Given the description of an element on the screen output the (x, y) to click on. 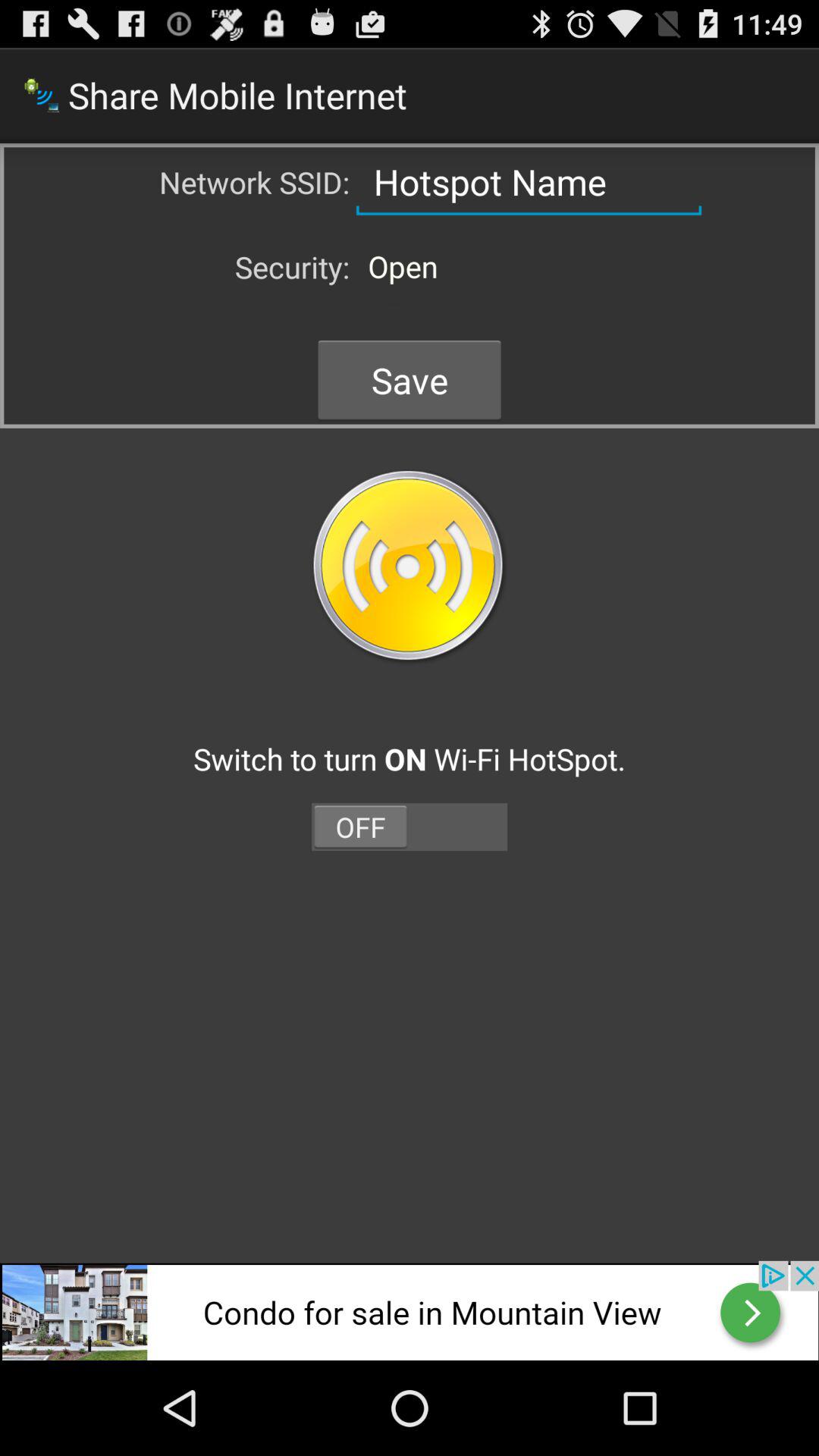
sound recorter (409, 1310)
